Given the description of an element on the screen output the (x, y) to click on. 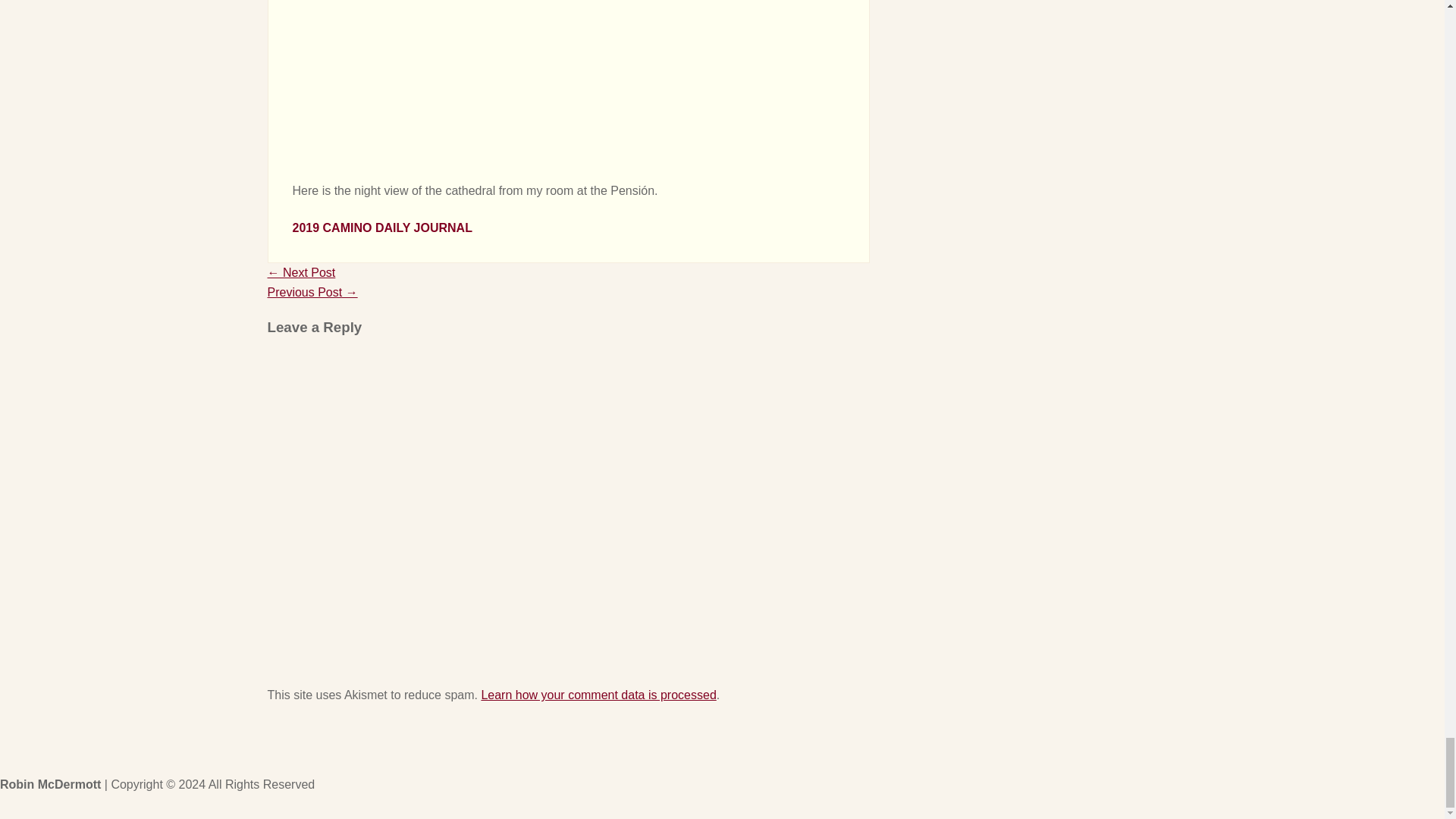
DAILY JOURNAL (423, 227)
2019 CAMINO (332, 227)
Learn how your comment data is processed (598, 694)
